Given the description of an element on the screen output the (x, y) to click on. 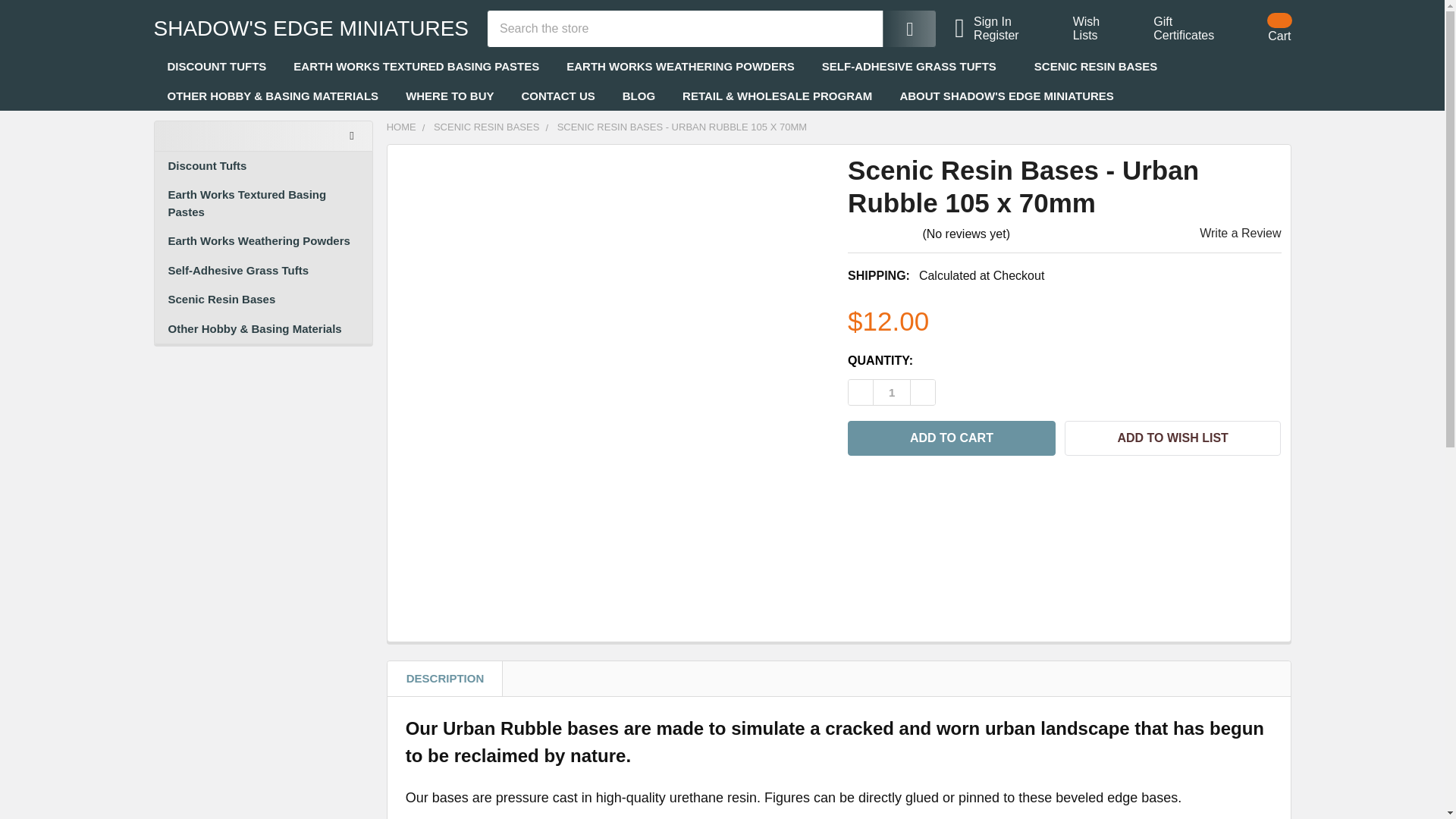
SHADOW'S EDGE MINIATURES (310, 60)
Pinterest (989, 478)
SELF-ADHESIVE GRASS TUFTS (914, 66)
Search (899, 28)
Sign In (1005, 21)
EARTH WORKS WEATHERING POWDERS (680, 66)
Register (1005, 35)
Wish Lists (1174, 29)
CONTACT US (1077, 29)
Facebook (558, 96)
WHERE TO BUY (861, 478)
EARTH WORKS TEXTURED BASING PASTES (448, 96)
Add to Cart (416, 66)
Search (951, 437)
